Given the description of an element on the screen output the (x, y) to click on. 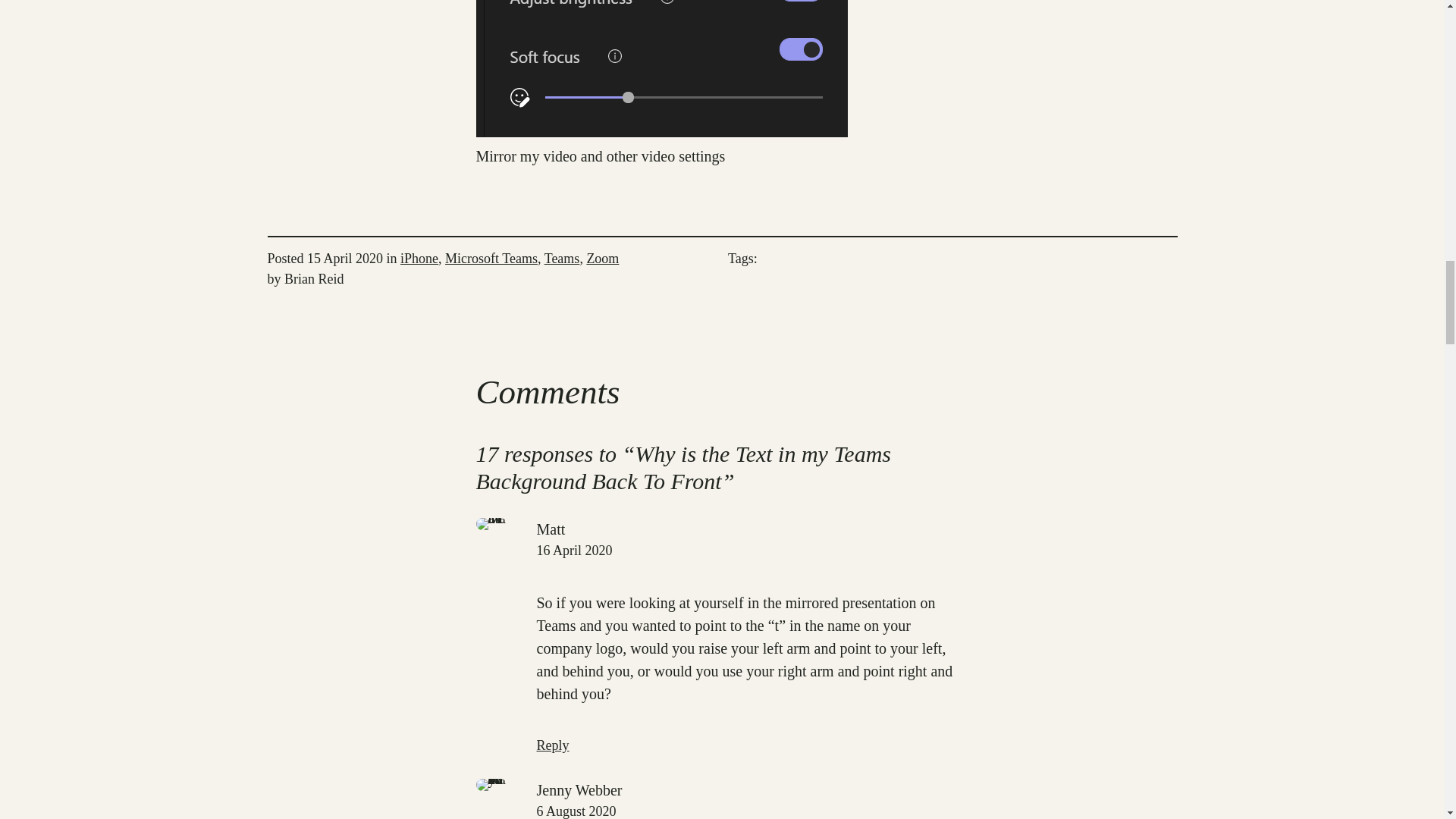
6 August 2020 (576, 811)
16 April 2020 (574, 549)
Zoom (602, 258)
Teams (561, 258)
Microsoft Teams (491, 258)
iPhone (419, 258)
Reply (553, 744)
